Given the description of an element on the screen output the (x, y) to click on. 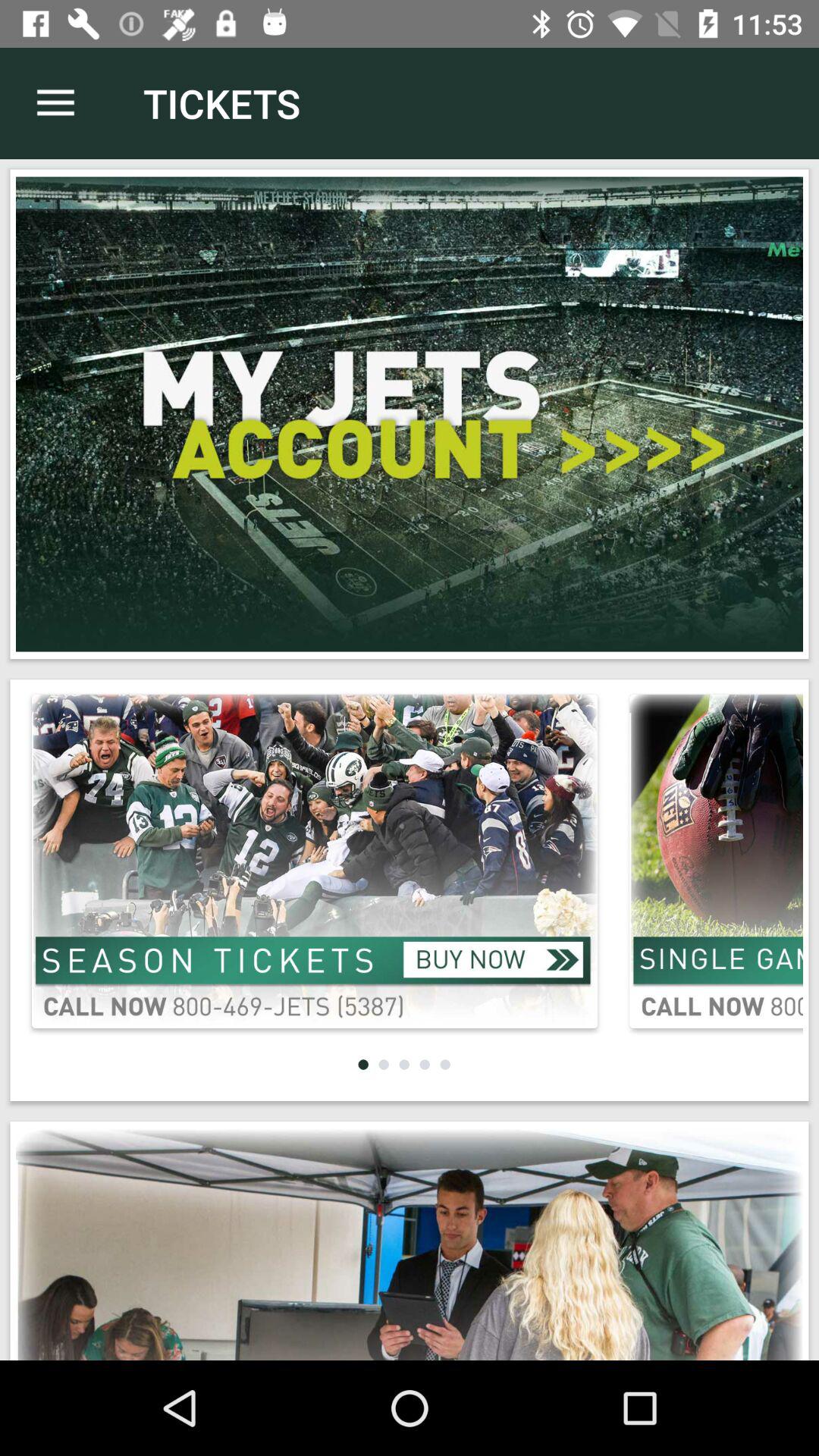
turn off the item to the left of the tickets (55, 103)
